Given the description of an element on the screen output the (x, y) to click on. 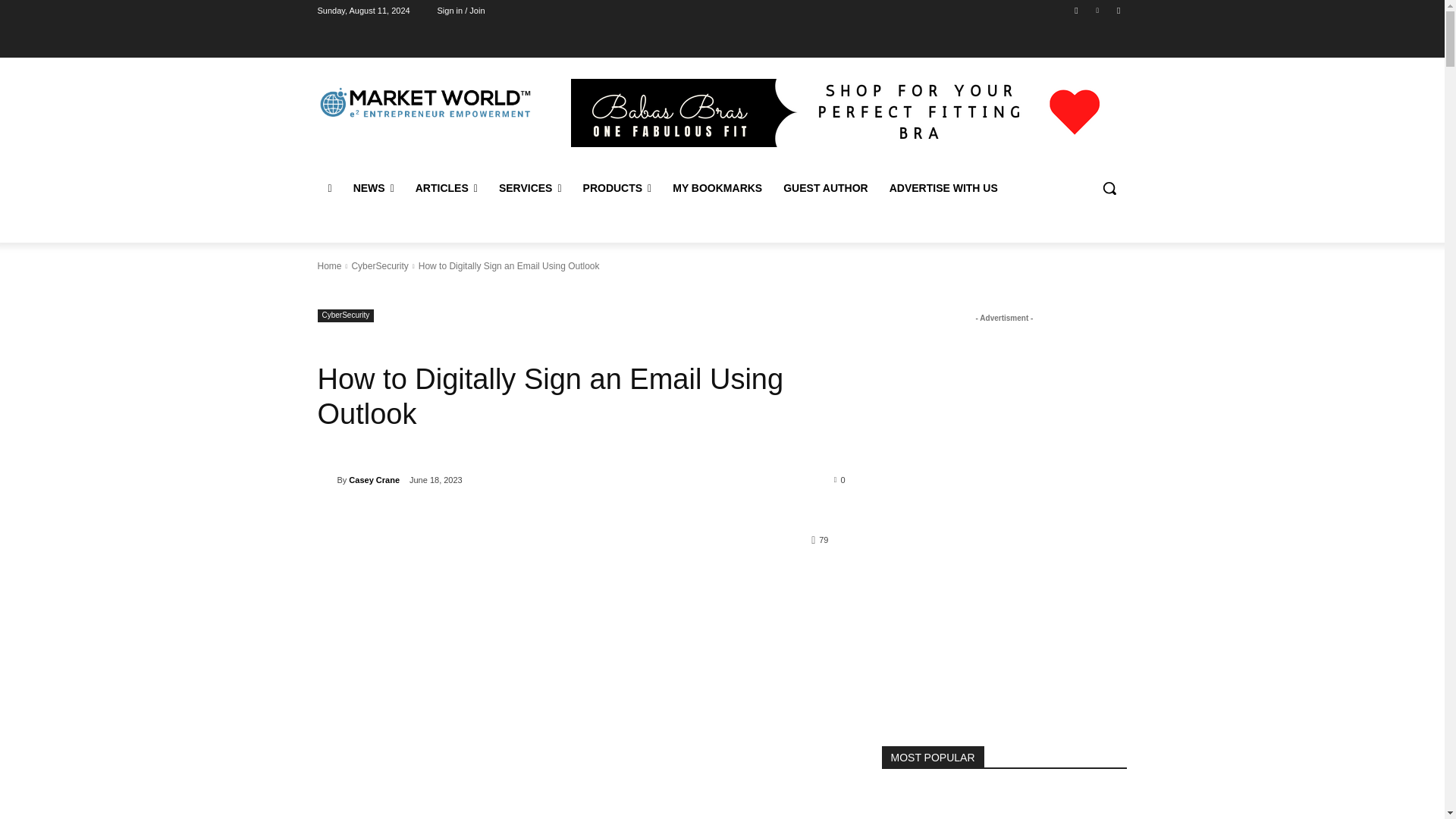
Facebook (1075, 9)
Linkedin (1097, 9)
Casey Crane (326, 479)
Twitter (1117, 9)
View all posts in CyberSecurity (378, 266)
